Given the description of an element on the screen output the (x, y) to click on. 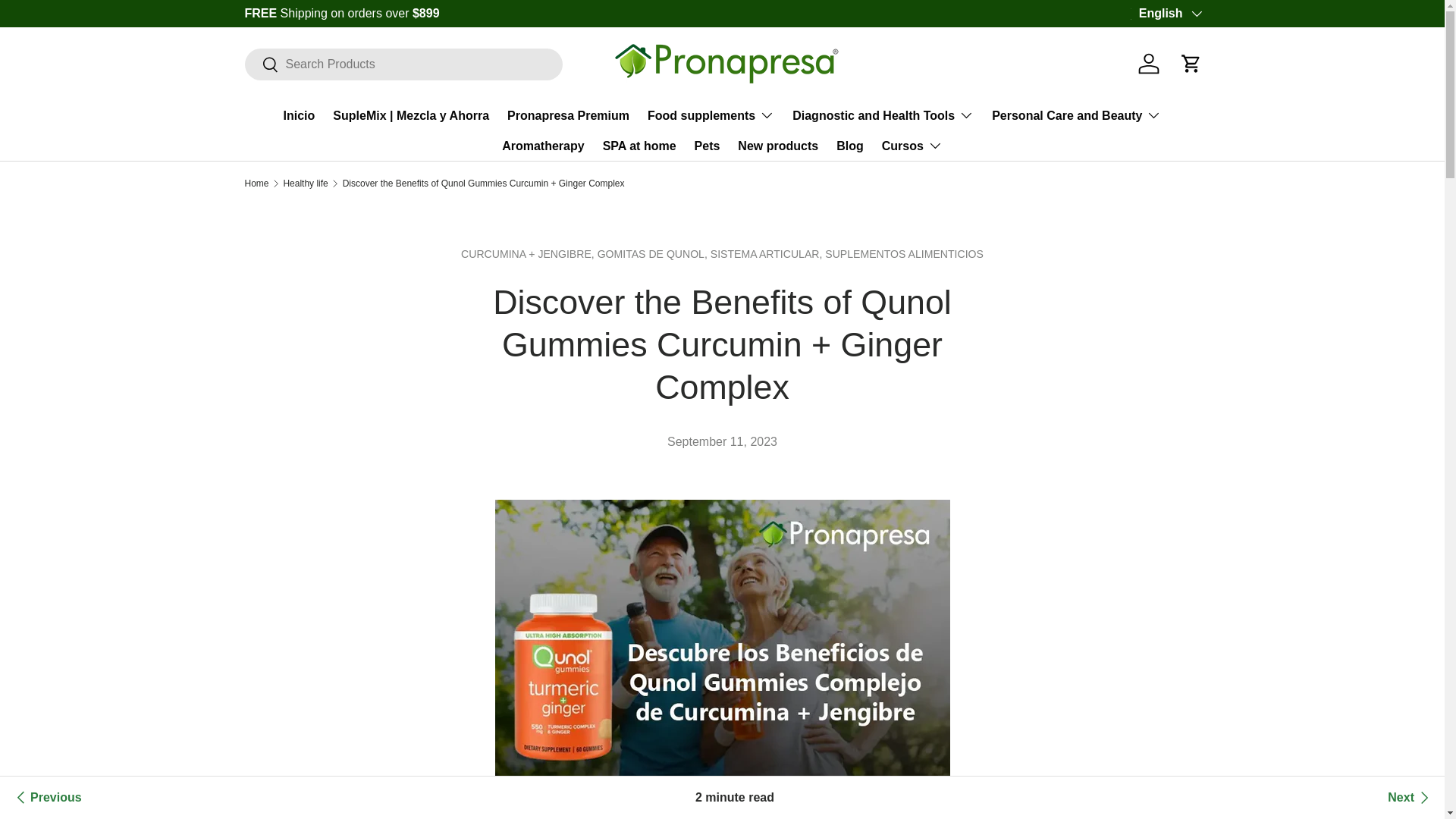
WhatsApp (1161, 12)
Log in (1149, 63)
English (1168, 13)
Echinacea: a plant with multiple health benefits  (46, 797)
Skip to content (69, 21)
Comprehensive Lymphatic Massage: Revitalize Your Health  (1409, 797)
Diagnostic and Health Tools (883, 114)
Pronapresa Premium (567, 115)
Search (261, 64)
Inicio (299, 115)
